Given the description of an element on the screen output the (x, y) to click on. 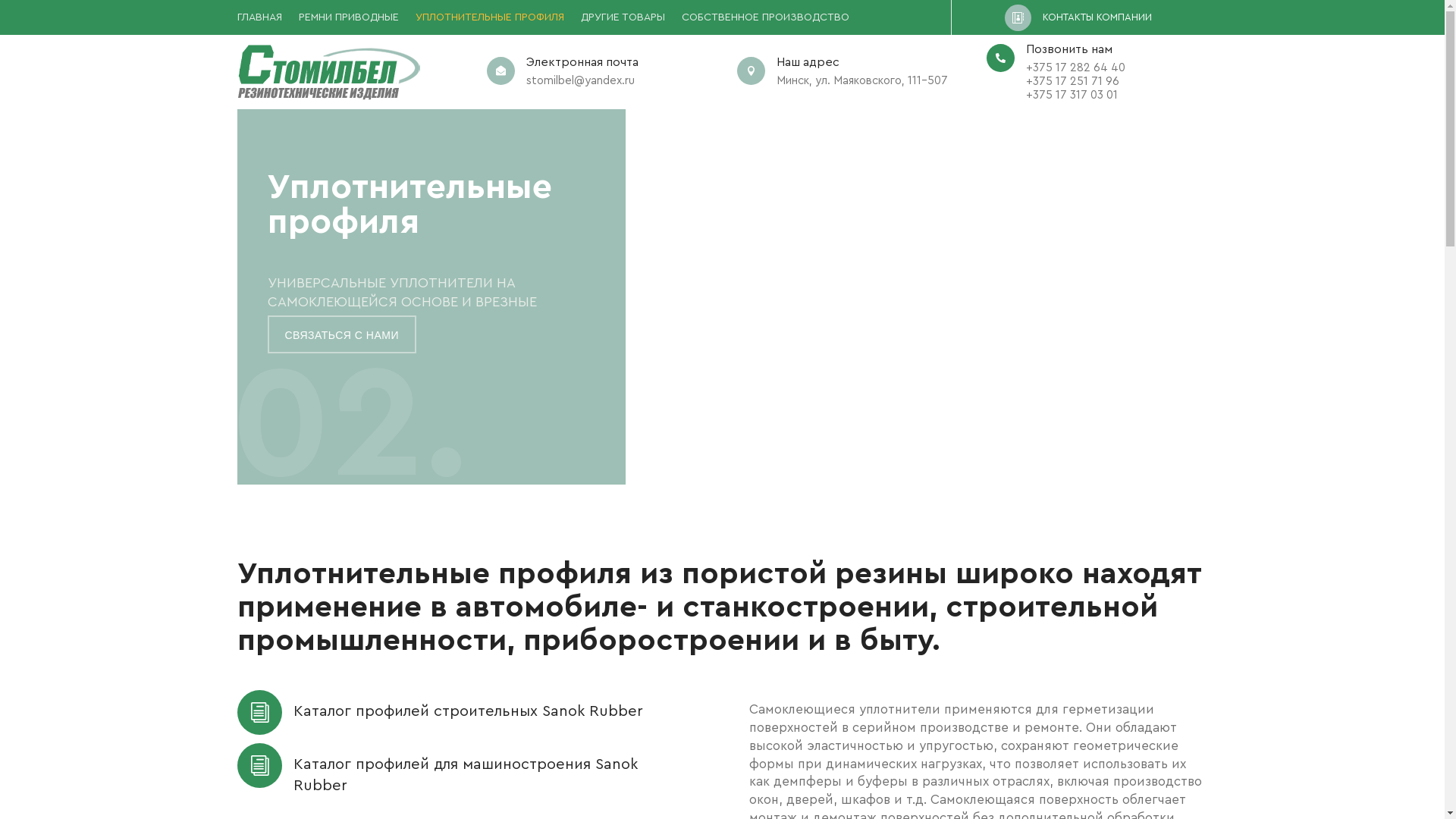
i Element type: text (258, 717)
logo-new Element type: hover (328, 71)
+375 17 317 03 01 Element type: text (1071, 94)
i Element type: text (258, 770)
+375 17 282 64 40 Element type: text (1075, 67)
+375 17 251 71 96 Element type: text (1072, 81)
stomilbel@yandex.ru Element type: text (580, 80)
